Given the description of an element on the screen output the (x, y) to click on. 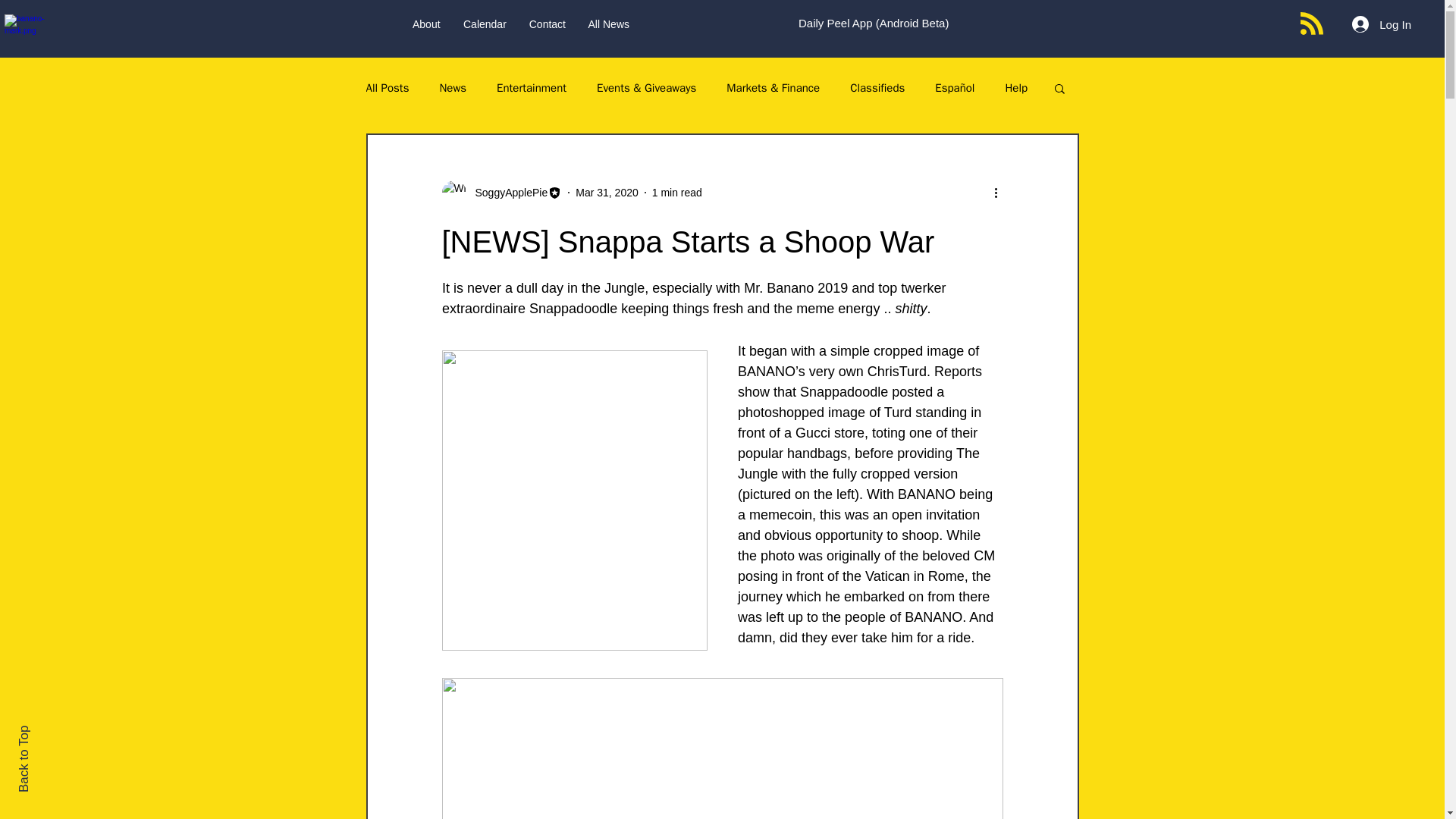
Log In (1381, 23)
SoggyApplePie (506, 192)
Entertainment (531, 87)
Mar 31, 2020 (607, 192)
Classifieds (877, 87)
SoggyApplePie (501, 192)
Help (1015, 87)
1 min read (676, 192)
All Posts (387, 87)
All News (608, 24)
About (426, 24)
News (452, 87)
Contact (547, 24)
Calendar (484, 24)
